Given the description of an element on the screen output the (x, y) to click on. 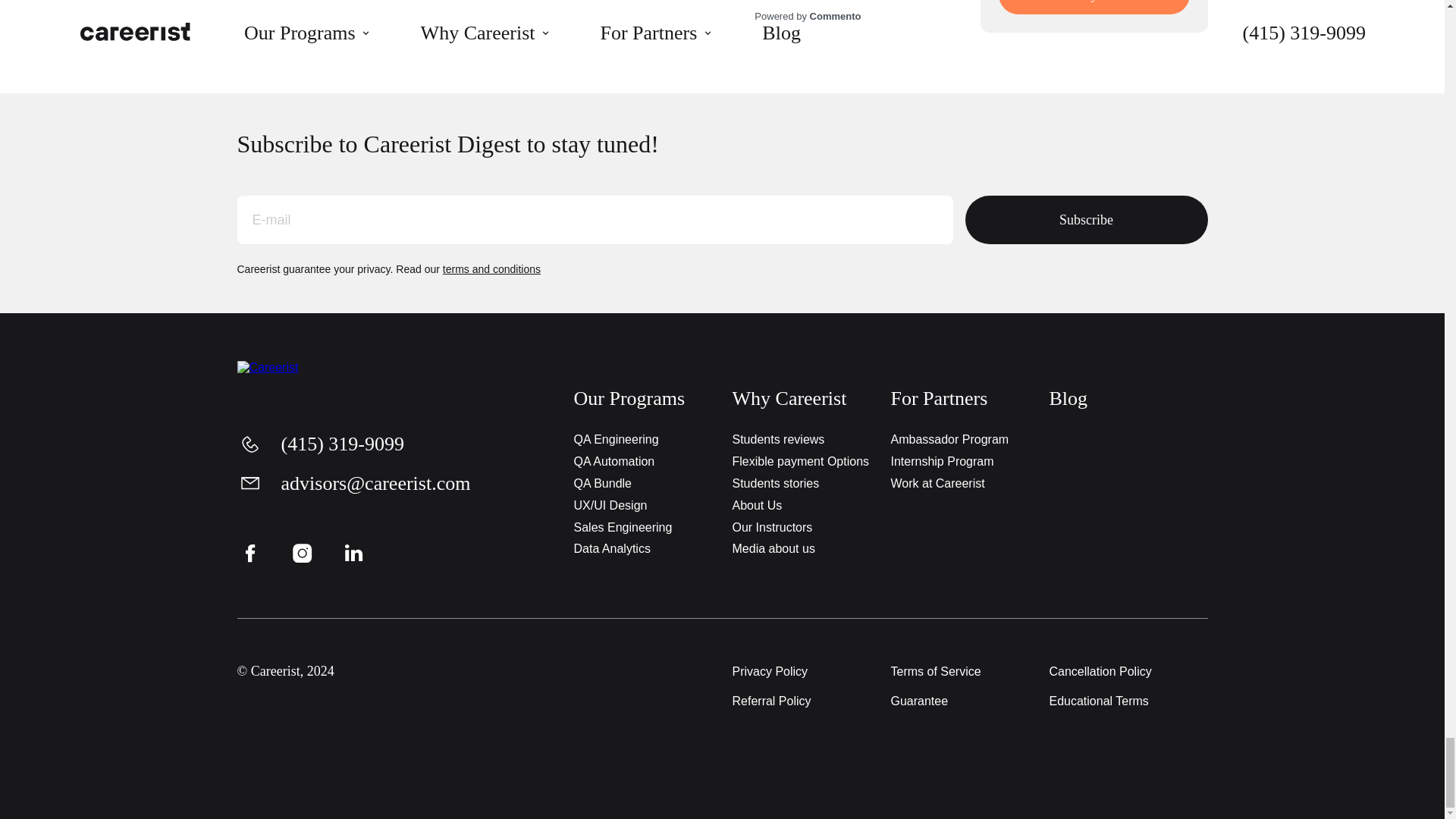
Commento (807, 16)
